Given the description of an element on the screen output the (x, y) to click on. 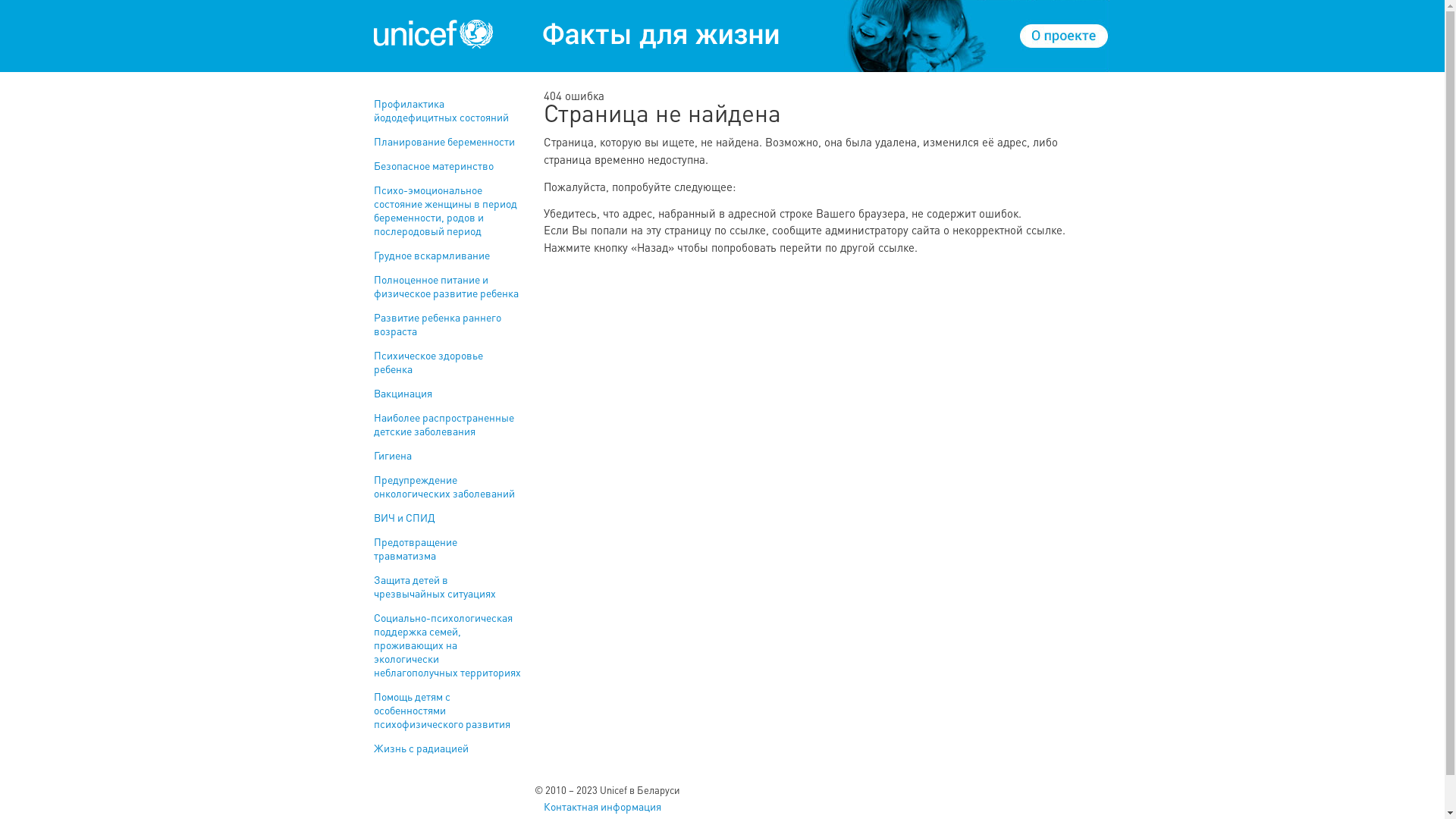
www.unicef.by Element type: text (433, 33)
Unicef Element type: text (575, 33)
